Given the description of an element on the screen output the (x, y) to click on. 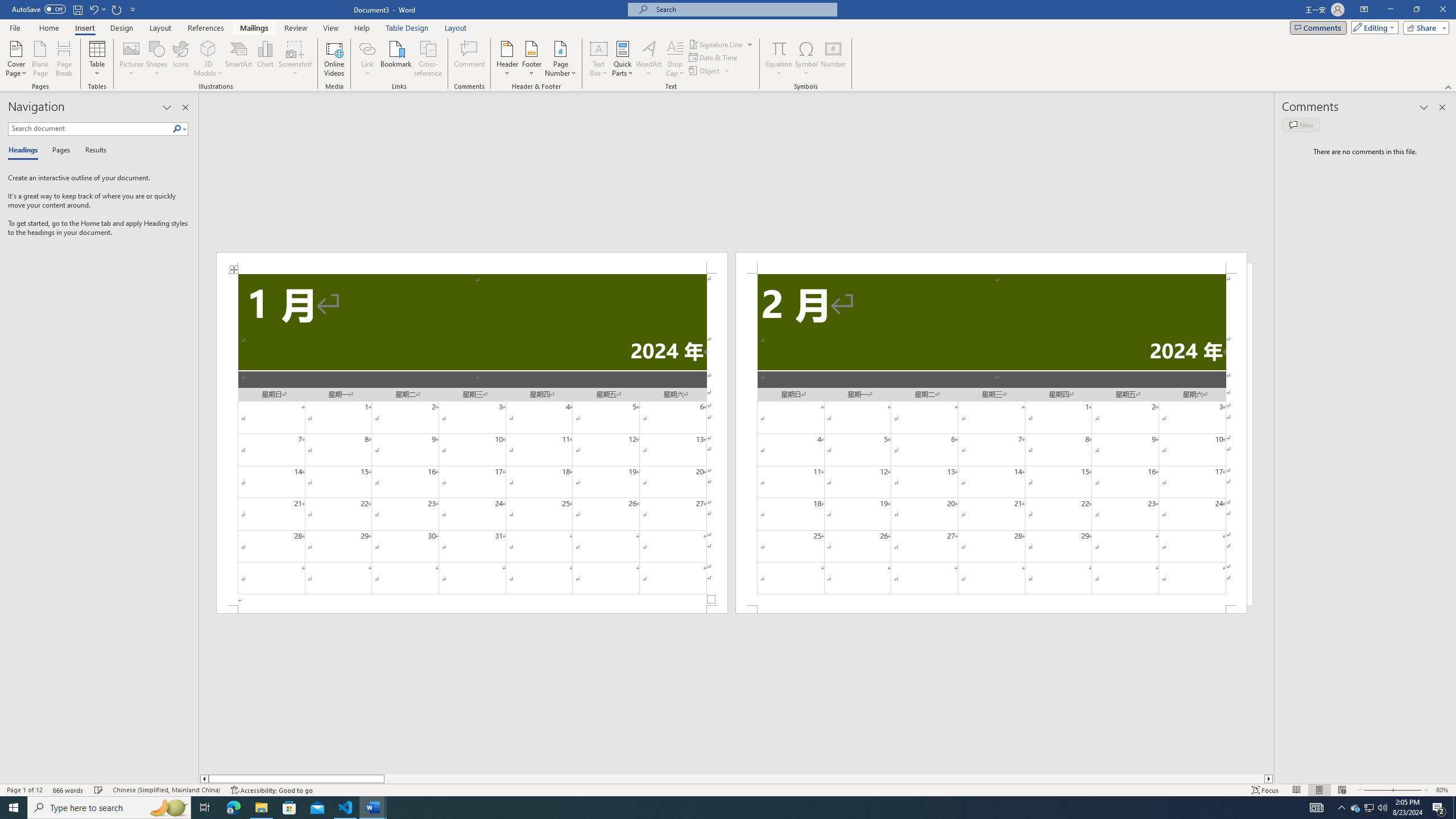
Page 1 content (471, 439)
Page Number (560, 58)
Link (367, 58)
Header (507, 58)
Page 2 content (991, 439)
Icons (180, 58)
WordArt (648, 58)
Page Number Page 1 of 12 (24, 790)
